Given the description of an element on the screen output the (x, y) to click on. 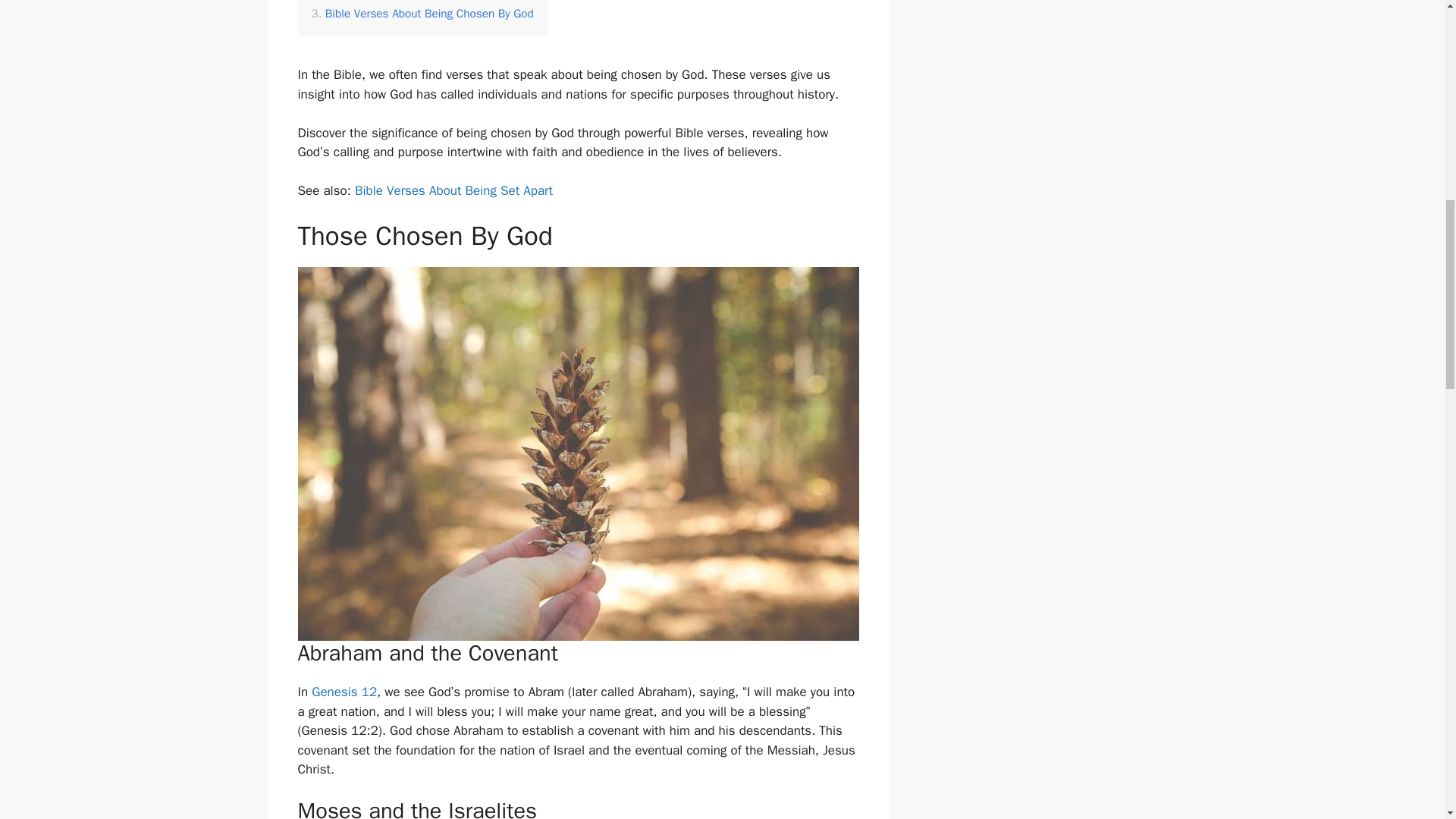
Bible Verses About Being Chosen By God (421, 13)
Genesis 12 (344, 691)
The Chosen Ones in Revelation (397, 1)
Bible Verses About Being Set Apart (454, 190)
Bible Verses About Being Chosen By God (421, 13)
The Chosen Ones in Revelation (397, 1)
